Given the description of an element on the screen output the (x, y) to click on. 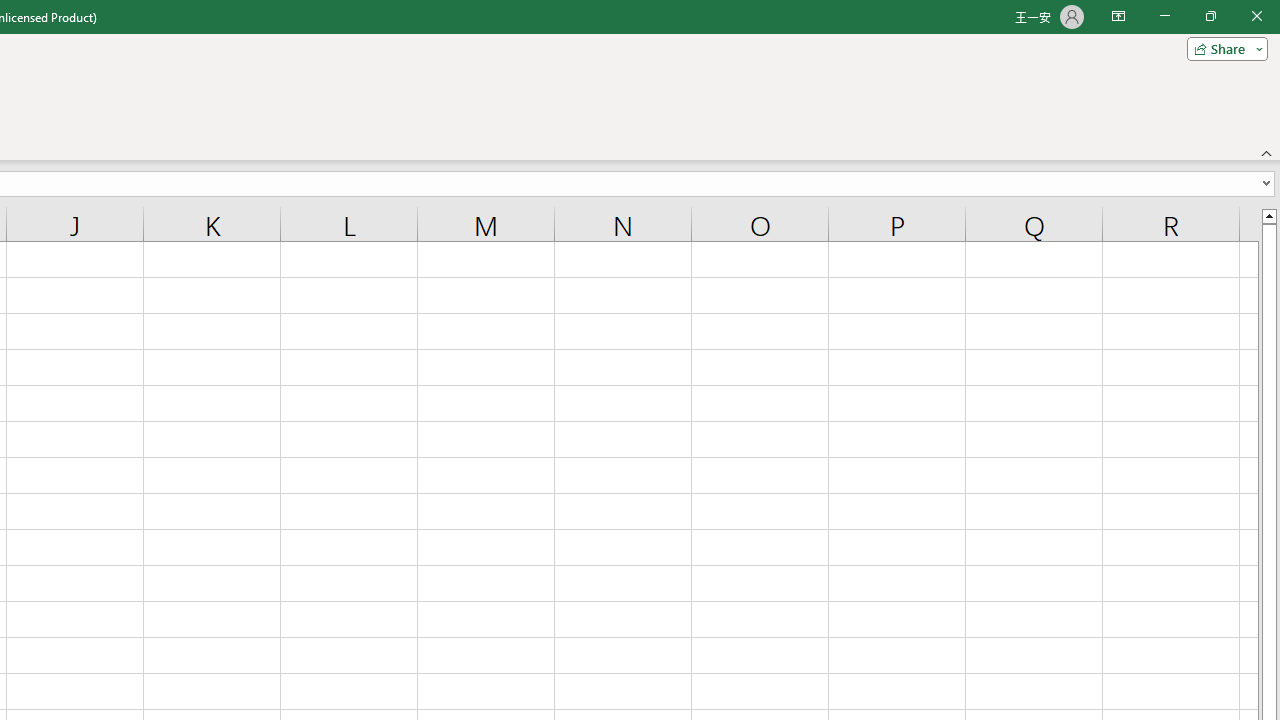
Collapse the Ribbon (1267, 152)
Minimize (1164, 16)
Ribbon Display Options (1118, 16)
Share (1223, 48)
Restore Down (1210, 16)
Line up (1268, 215)
